Given the description of an element on the screen output the (x, y) to click on. 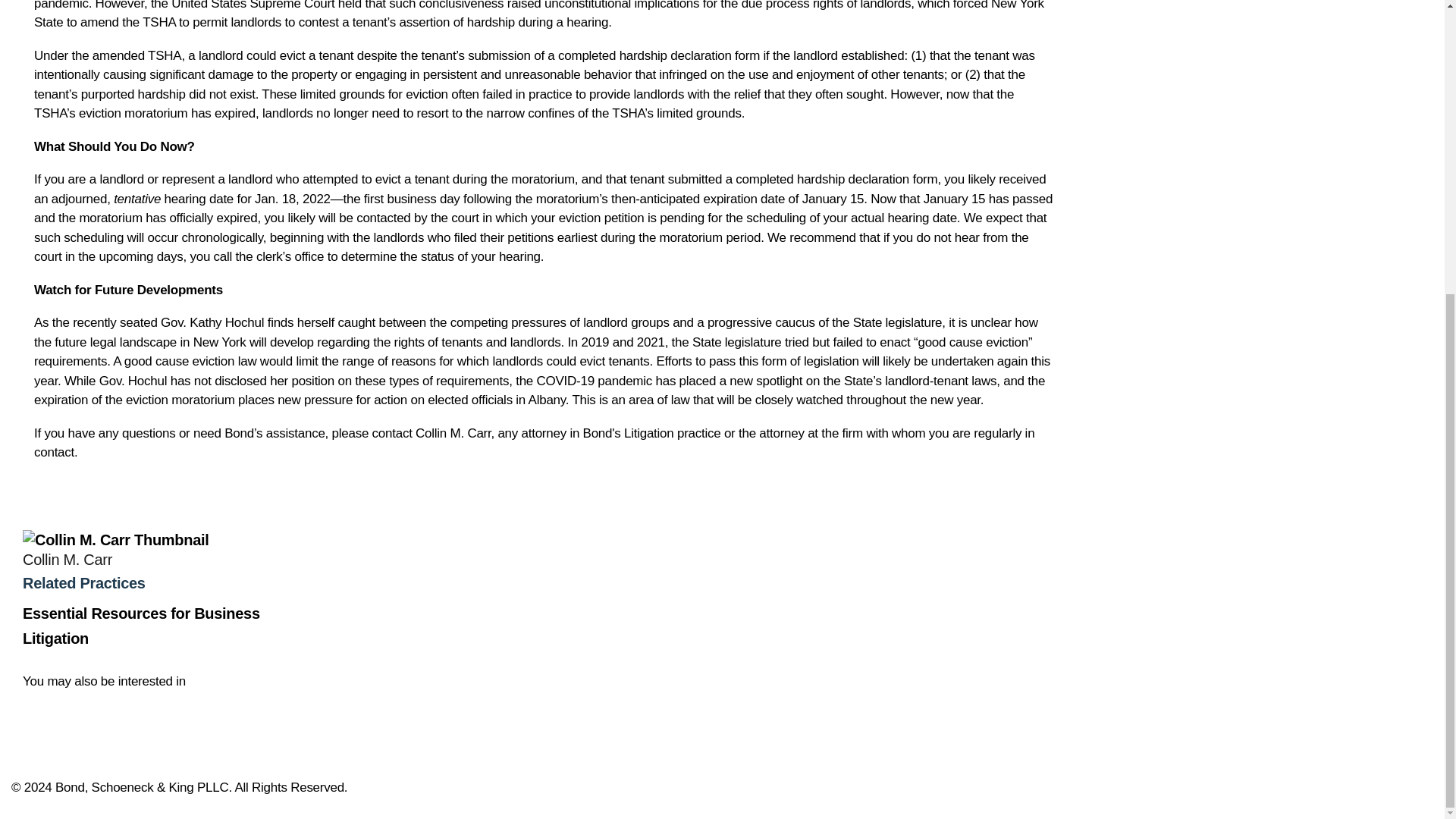
Collin M. Carr Attorney (115, 539)
Collin M. Carr (452, 432)
Litigation (55, 638)
Litigation (55, 638)
Essential Resources for Business (141, 612)
Litigation practice (672, 432)
Essential Resources for Business (141, 612)
